Given the description of an element on the screen output the (x, y) to click on. 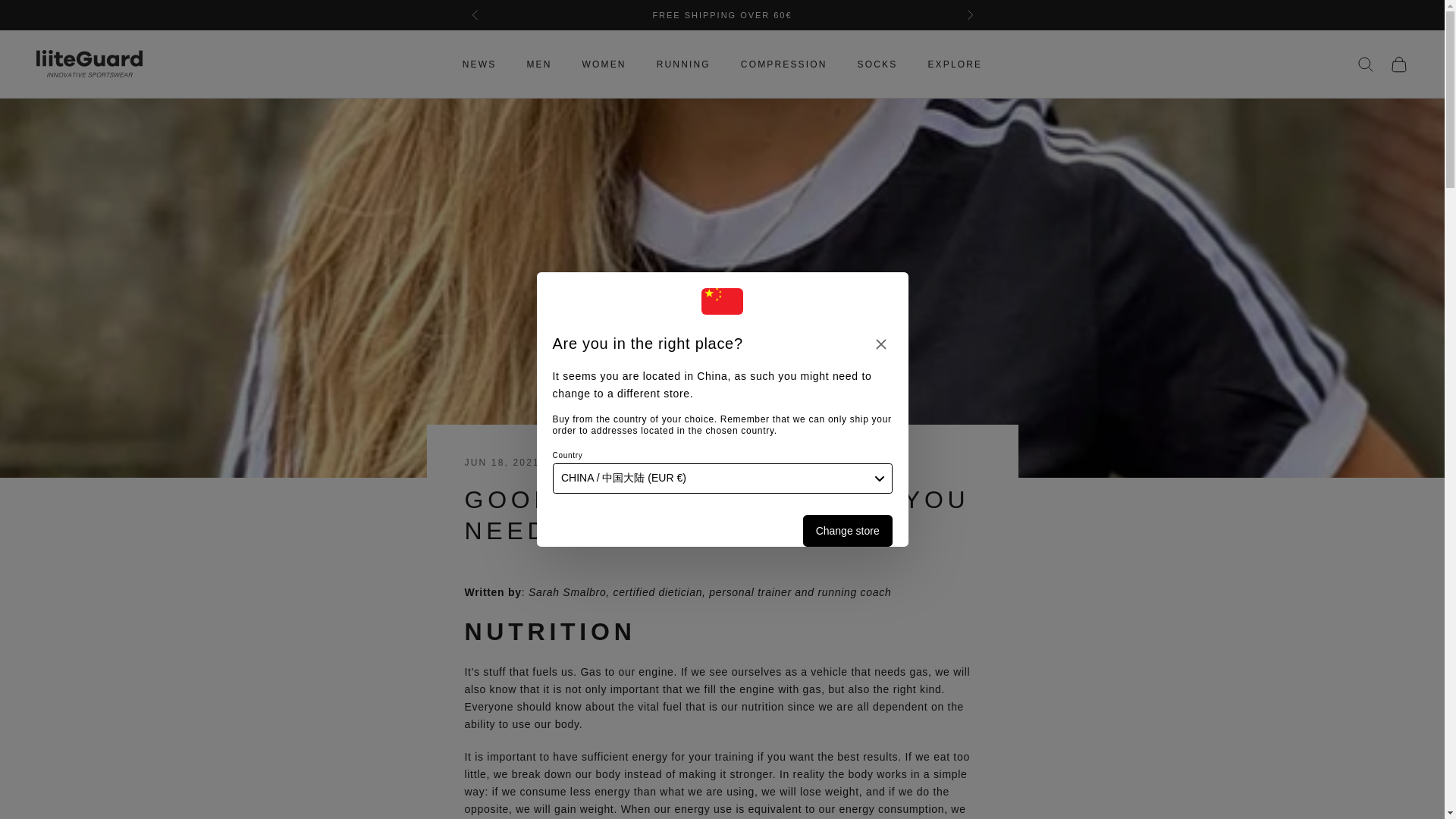
MEN (538, 64)
Open cart (1398, 64)
Open search (1365, 64)
Change store (847, 531)
liiteGuard International (89, 64)
NEWS (479, 64)
